Given the description of an element on the screen output the (x, y) to click on. 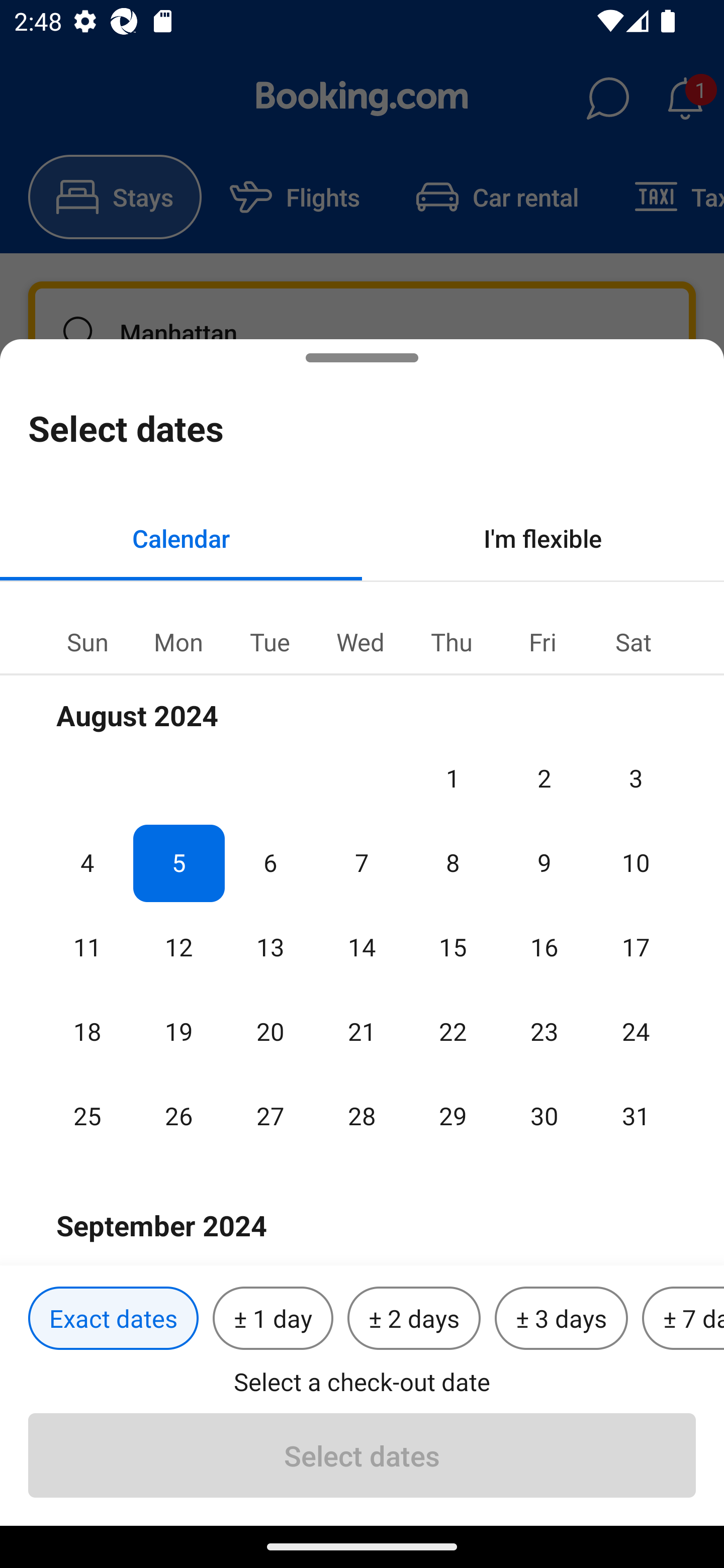
I'm flexible (543, 537)
Exact dates (113, 1318)
± 1 day (272, 1318)
± 2 days (413, 1318)
± 3 days (560, 1318)
± 7 days (683, 1318)
Select dates (361, 1454)
